Given the description of an element on the screen output the (x, y) to click on. 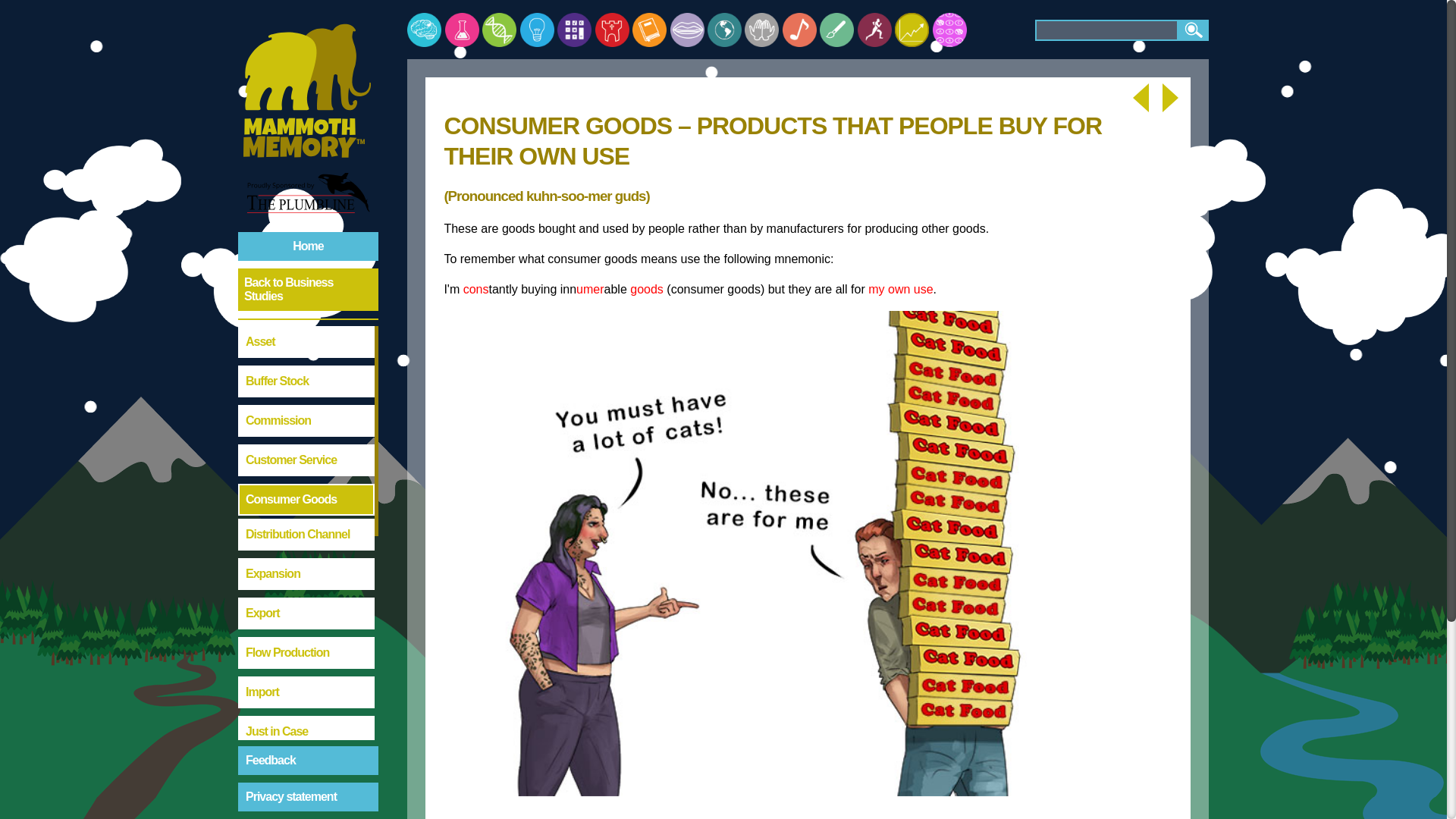
Feedback (308, 760)
Distribution Channel (306, 534)
Geography (724, 29)
Asset (306, 341)
Memory (424, 29)
Maths (574, 29)
Lean Production (306, 806)
Privacy statement (308, 796)
Commission (306, 420)
Export (306, 613)
English (648, 29)
Home (308, 246)
Just in Case (306, 731)
Art (836, 29)
Expansion (306, 573)
